Given the description of an element on the screen output the (x, y) to click on. 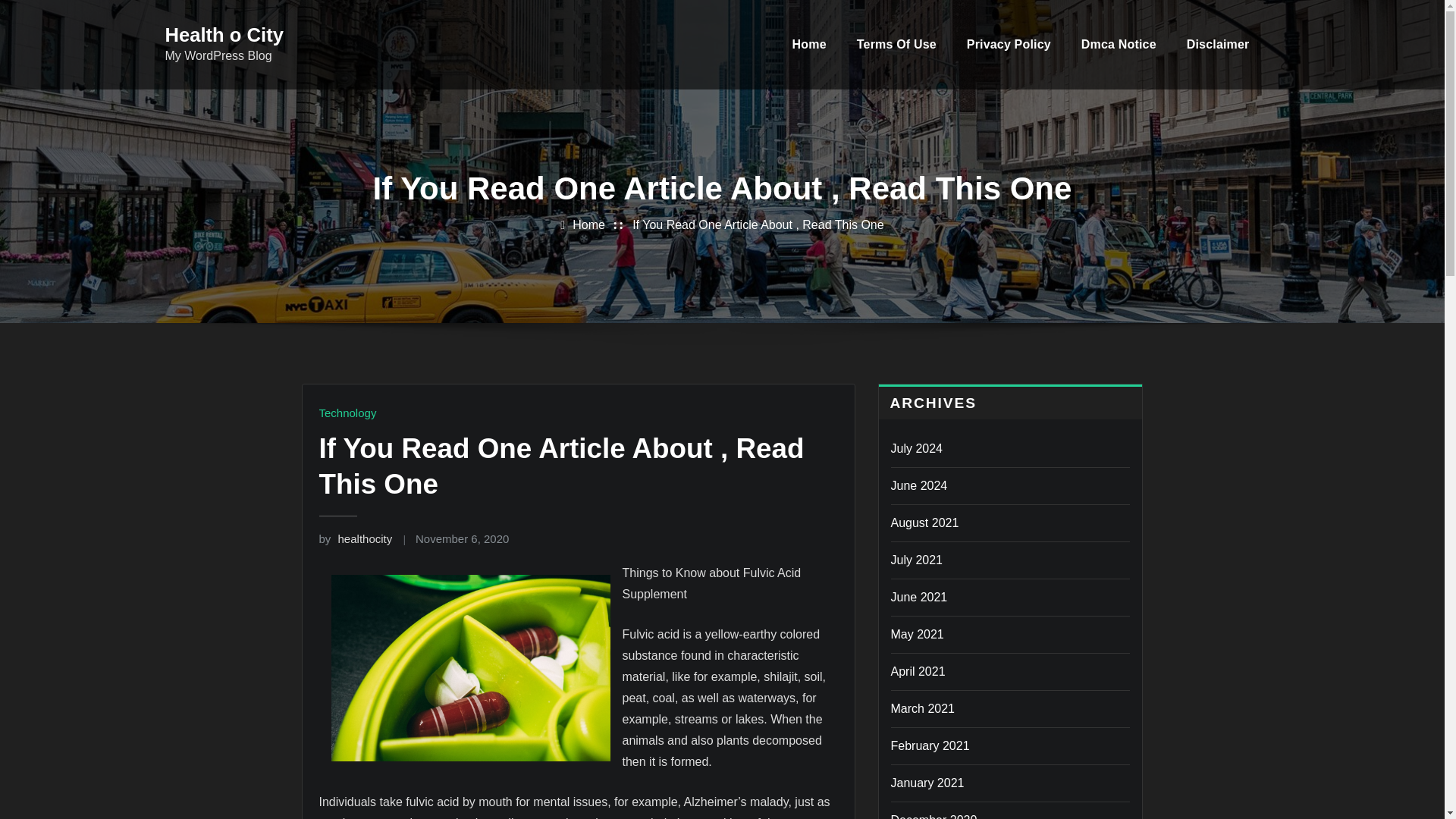
February 2021 (929, 745)
If You Read One Article About , Read This One (757, 224)
May 2021 (916, 634)
January 2021 (926, 782)
Home (588, 224)
December 2020 (932, 816)
July 2021 (915, 559)
June 2021 (918, 596)
Health o City (224, 34)
July 2024 (915, 448)
April 2021 (916, 671)
Technology (346, 412)
November 6, 2020 (461, 538)
Disclaimer (1218, 44)
March 2021 (922, 707)
